Given the description of an element on the screen output the (x, y) to click on. 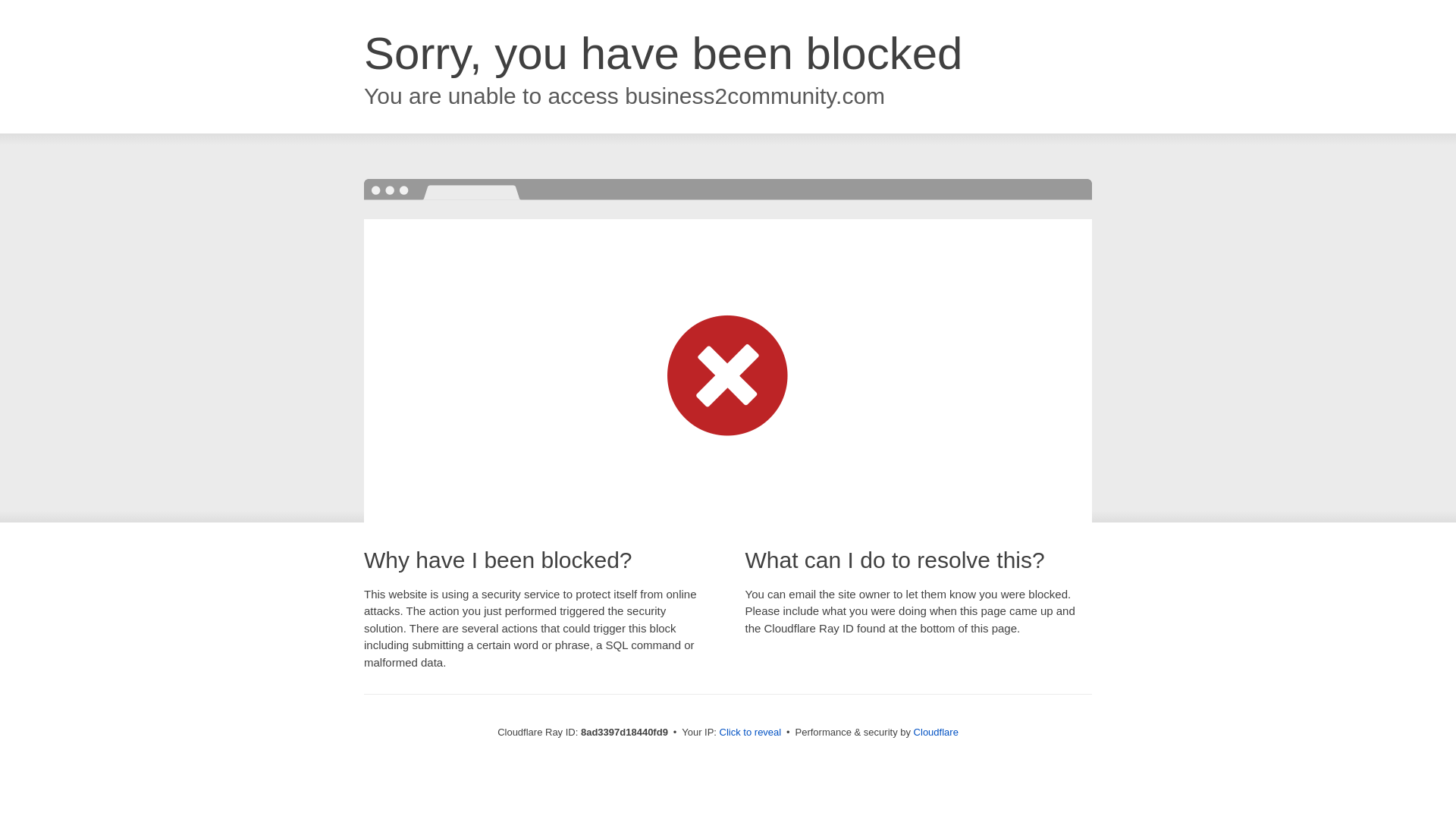
Cloudflare (936, 731)
Click to reveal (750, 732)
